Given the description of an element on the screen output the (x, y) to click on. 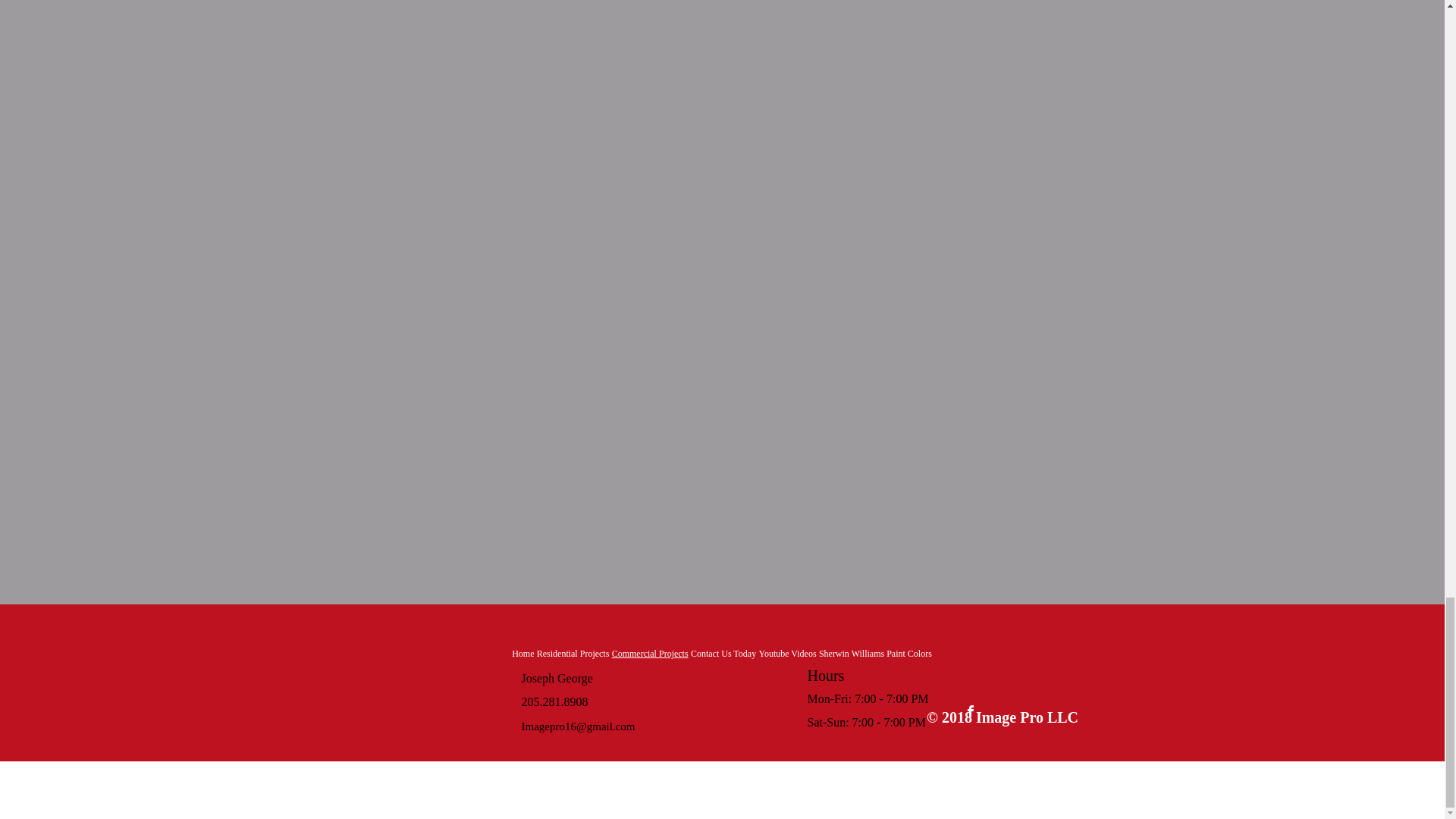
Home (523, 653)
Residential Projects (572, 653)
Sherwin Williams Paint Colors (874, 653)
Commercial Projects (649, 653)
Youtube Videos (786, 653)
Contact Us Today (722, 653)
